Given the description of an element on the screen output the (x, y) to click on. 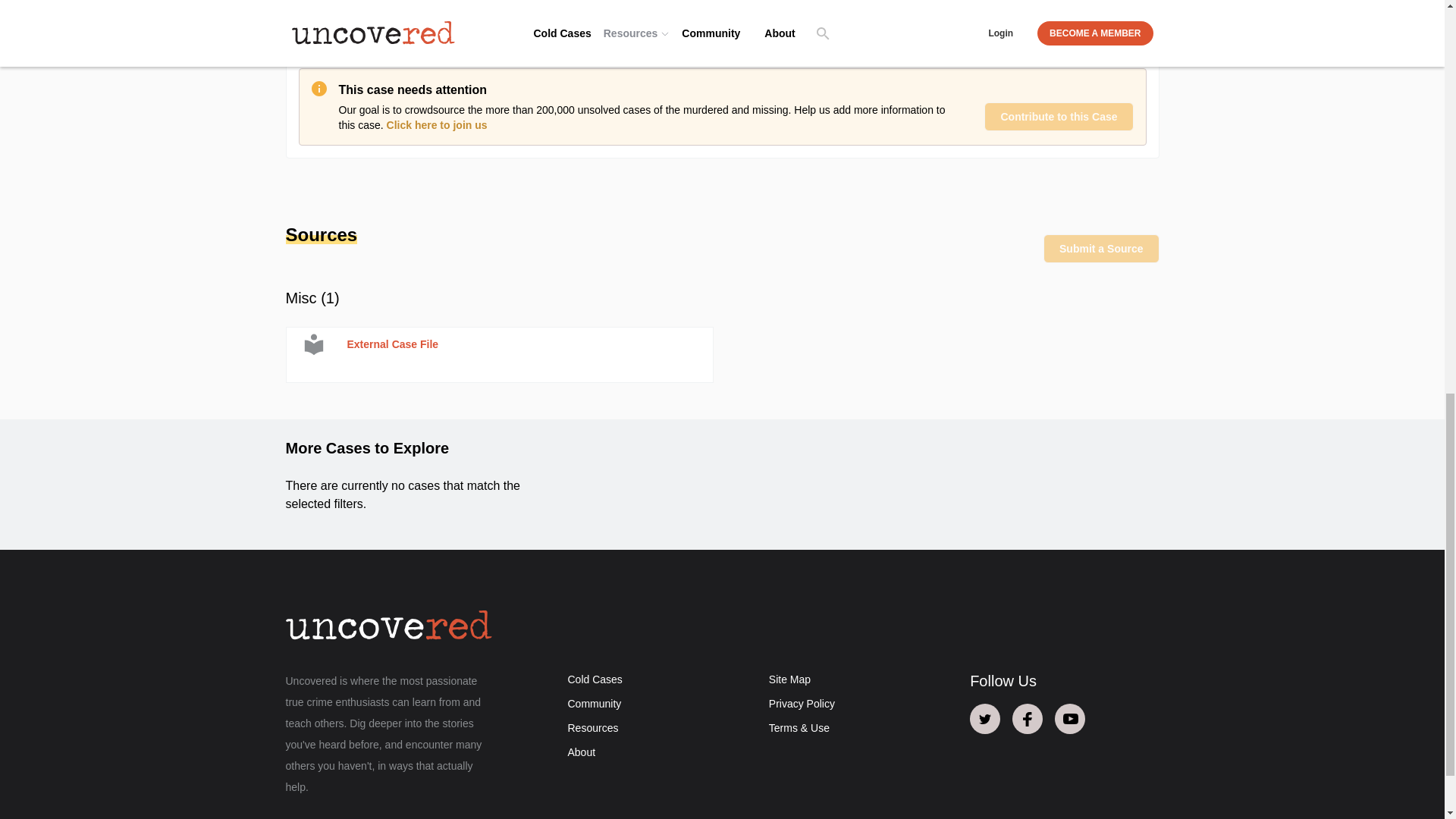
Cold Cases (594, 679)
External Case File (499, 354)
Contribute to this Case (1058, 116)
Click here to join us (437, 124)
Resources (592, 727)
About (581, 752)
Submit a Source (1100, 248)
Community (594, 703)
Site Map (789, 679)
